Given the description of an element on the screen output the (x, y) to click on. 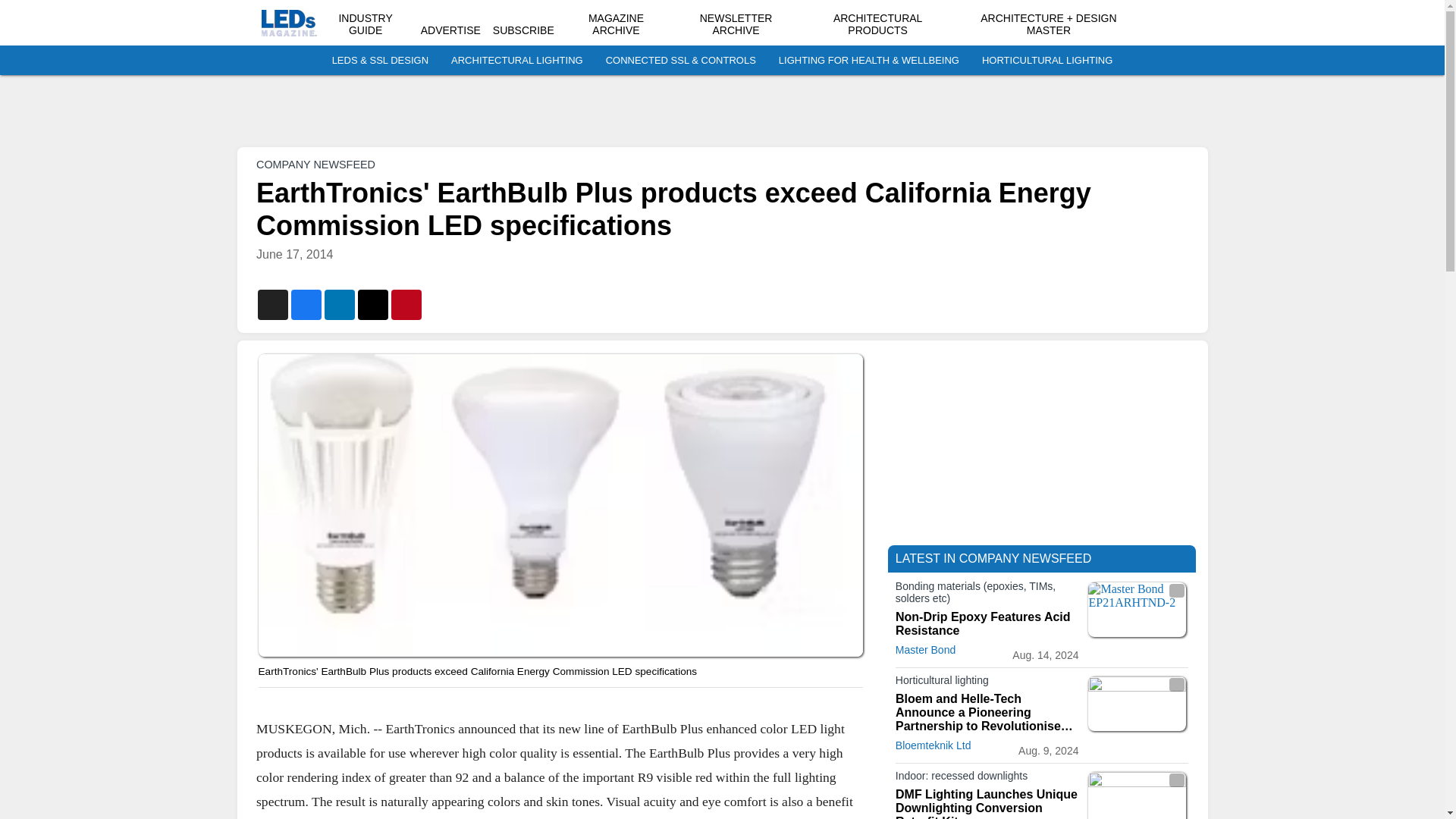
Master Bond EP21ARHTND-2 (1136, 609)
Bloemteknik Ltd (933, 745)
INDUSTRY GUIDE (364, 24)
Non-Drip Epoxy Features Acid Resistance (986, 624)
ARCHITECTURAL PRODUCTS (876, 24)
ARCHITECTURAL LIGHTING (517, 60)
Horticultural lighting (986, 683)
HORTICULTURAL LIGHTING (1046, 60)
MAGAZINE ARCHIVE (615, 24)
